Given the description of an element on the screen output the (x, y) to click on. 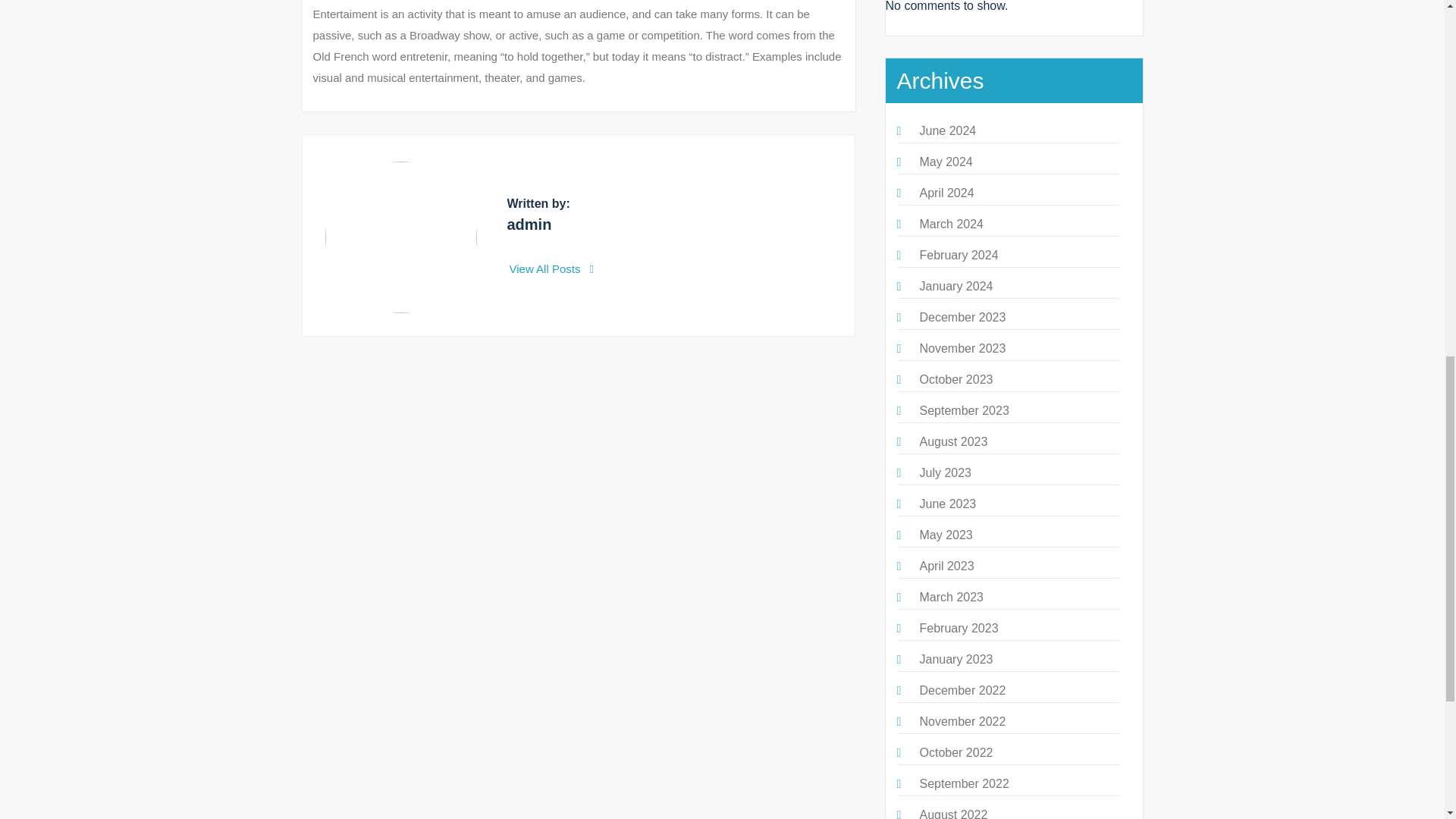
View All Posts (551, 268)
September 2023 (963, 410)
March 2024 (951, 223)
September 2022 (963, 783)
March 2023 (951, 596)
December 2023 (962, 317)
May 2023 (945, 534)
November 2023 (962, 348)
April 2023 (946, 565)
June 2024 (946, 130)
October 2023 (955, 379)
January 2023 (955, 658)
November 2022 (962, 721)
August 2022 (952, 813)
February 2023 (957, 627)
